Given the description of an element on the screen output the (x, y) to click on. 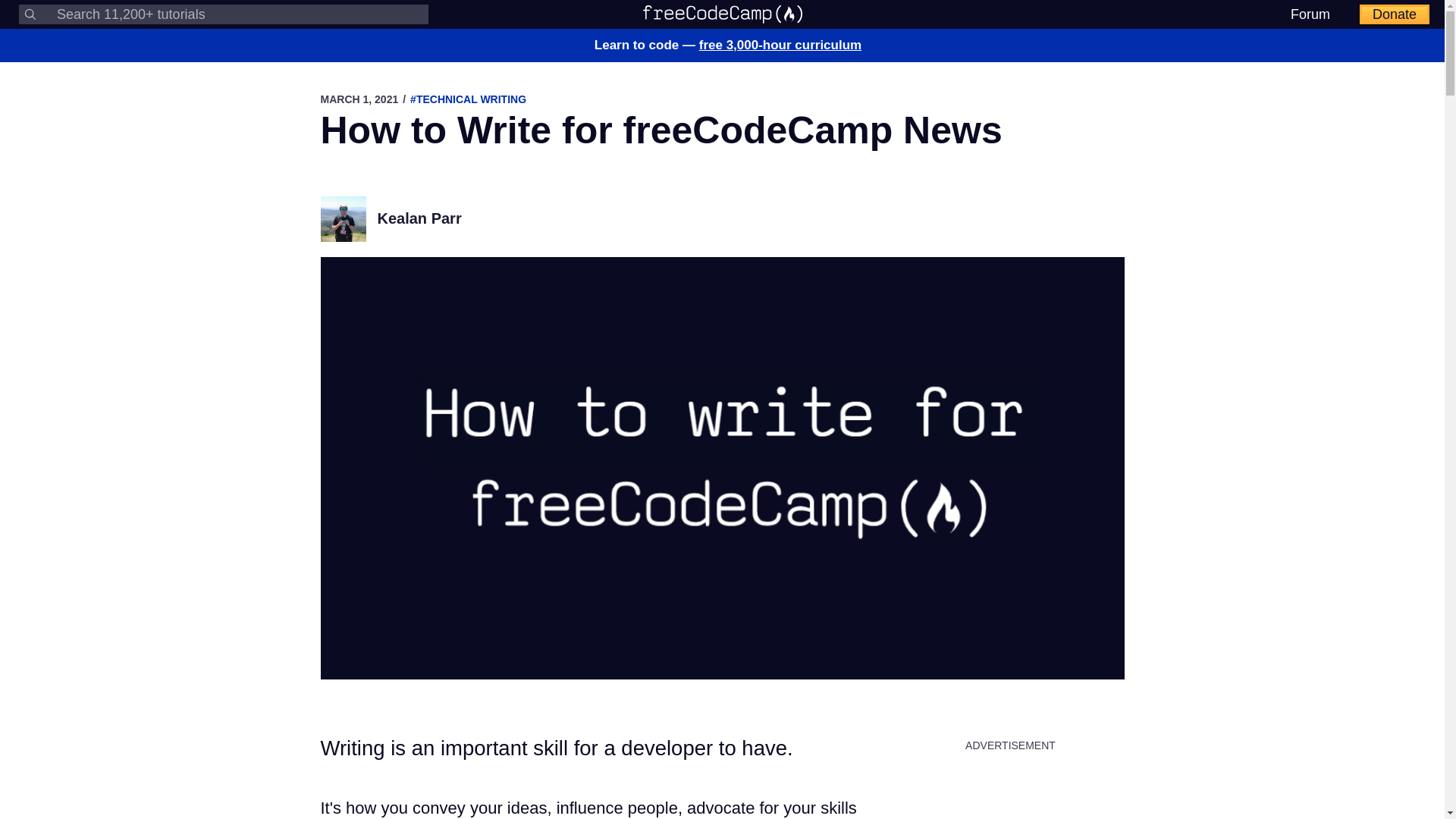
Advertisement (1010, 792)
Forum (1309, 14)
Kealan Parr (419, 217)
Submit your search query (30, 14)
Donate (1394, 14)
